Given the description of an element on the screen output the (x, y) to click on. 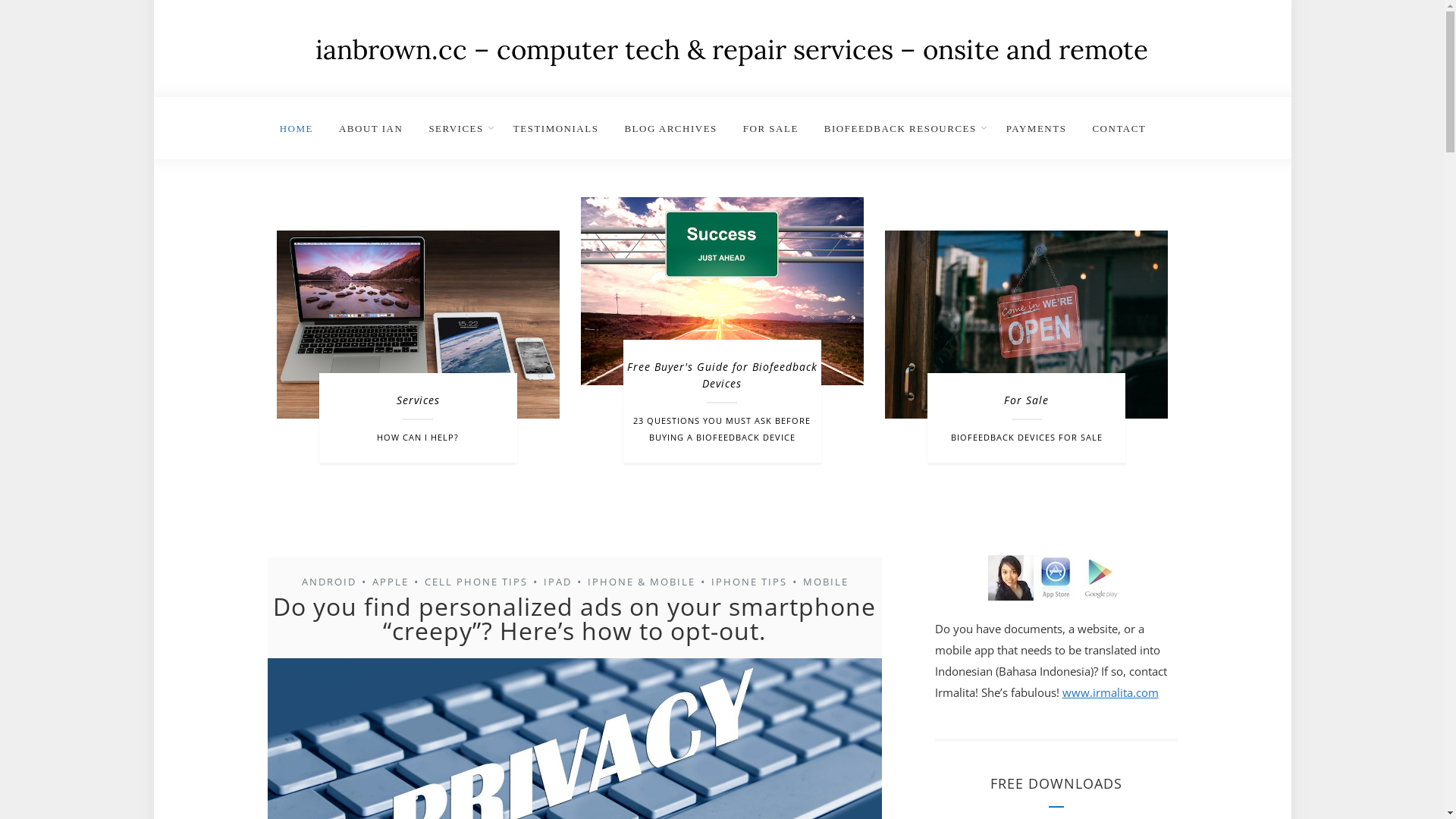
APPLE Element type: text (389, 581)
TESTIMONIALS Element type: text (556, 124)
SERVICES Element type: text (457, 124)
HOME Element type: text (301, 124)
PAYMENTS Element type: text (1036, 124)
MOBILE Element type: text (824, 581)
ANDROID Element type: text (327, 581)
For Sale
BIOFEEDBACK DEVICES FOR SALE Element type: text (1025, 346)
Services
HOW CAN I HELP? Element type: text (417, 346)
IPAD Element type: text (556, 581)
ABOUT IAN Element type: text (370, 124)
CELL PHONE TIPS Element type: text (475, 581)
IPHONE TIPS Element type: text (748, 581)
BIOFEEDBACK RESOURCES Element type: text (901, 124)
FOR SALE Element type: text (770, 124)
www.irmalita.com Element type: text (1109, 691)
CONTACT Element type: text (1112, 124)
BLOG ARCHIVES Element type: text (670, 124)
IPHONE & MOBILE Element type: text (640, 581)
